Given the description of an element on the screen output the (x, y) to click on. 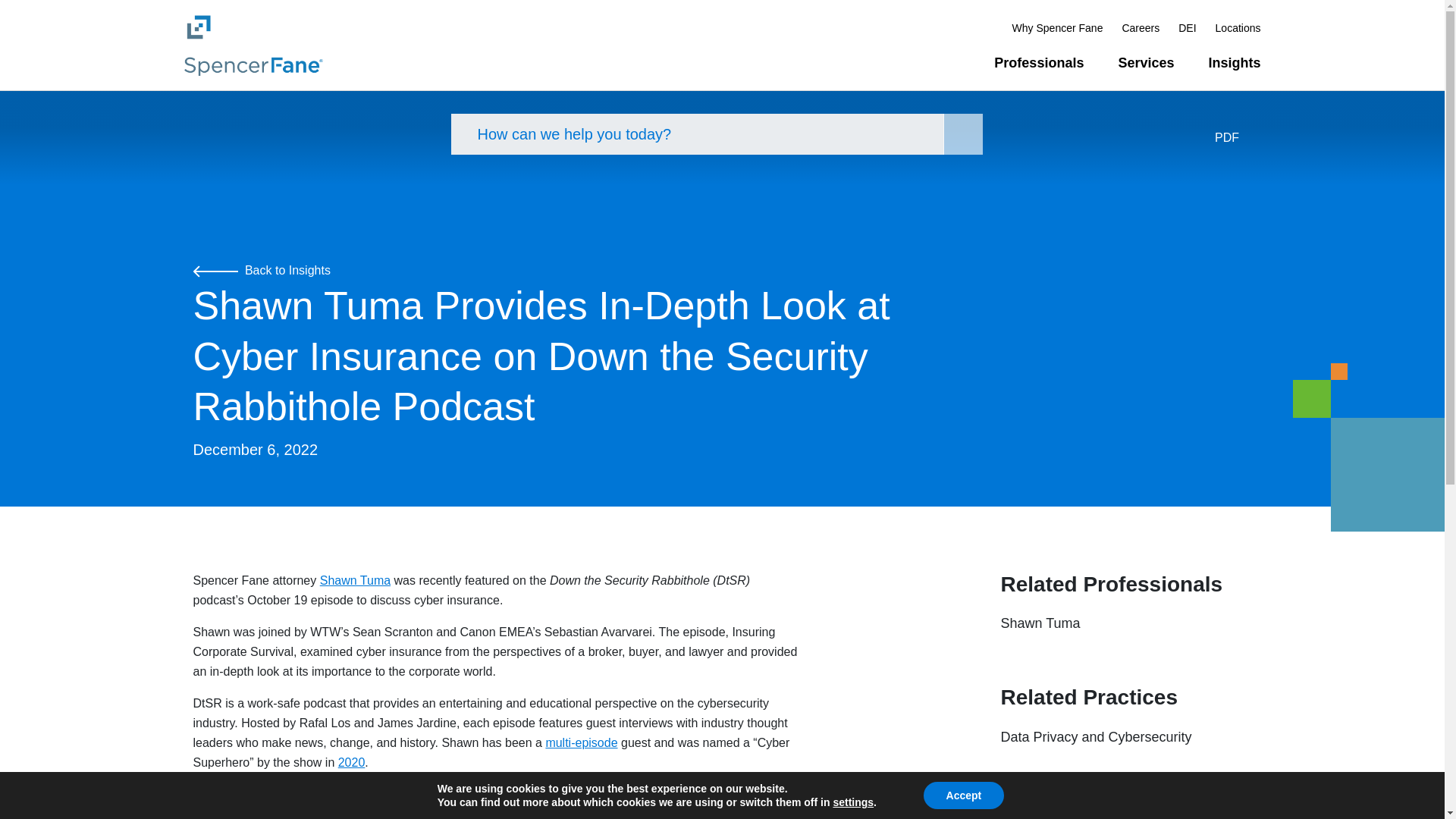
Insights (1234, 62)
Data Privacy and Cybersecurity (1096, 736)
Careers (1139, 27)
Services (1145, 62)
Why Spencer Fane (1057, 27)
Search (962, 133)
PDF (1237, 137)
Spencer Fane (252, 44)
multi-episode (580, 742)
Back to Insights (261, 269)
